Given the description of an element on the screen output the (x, y) to click on. 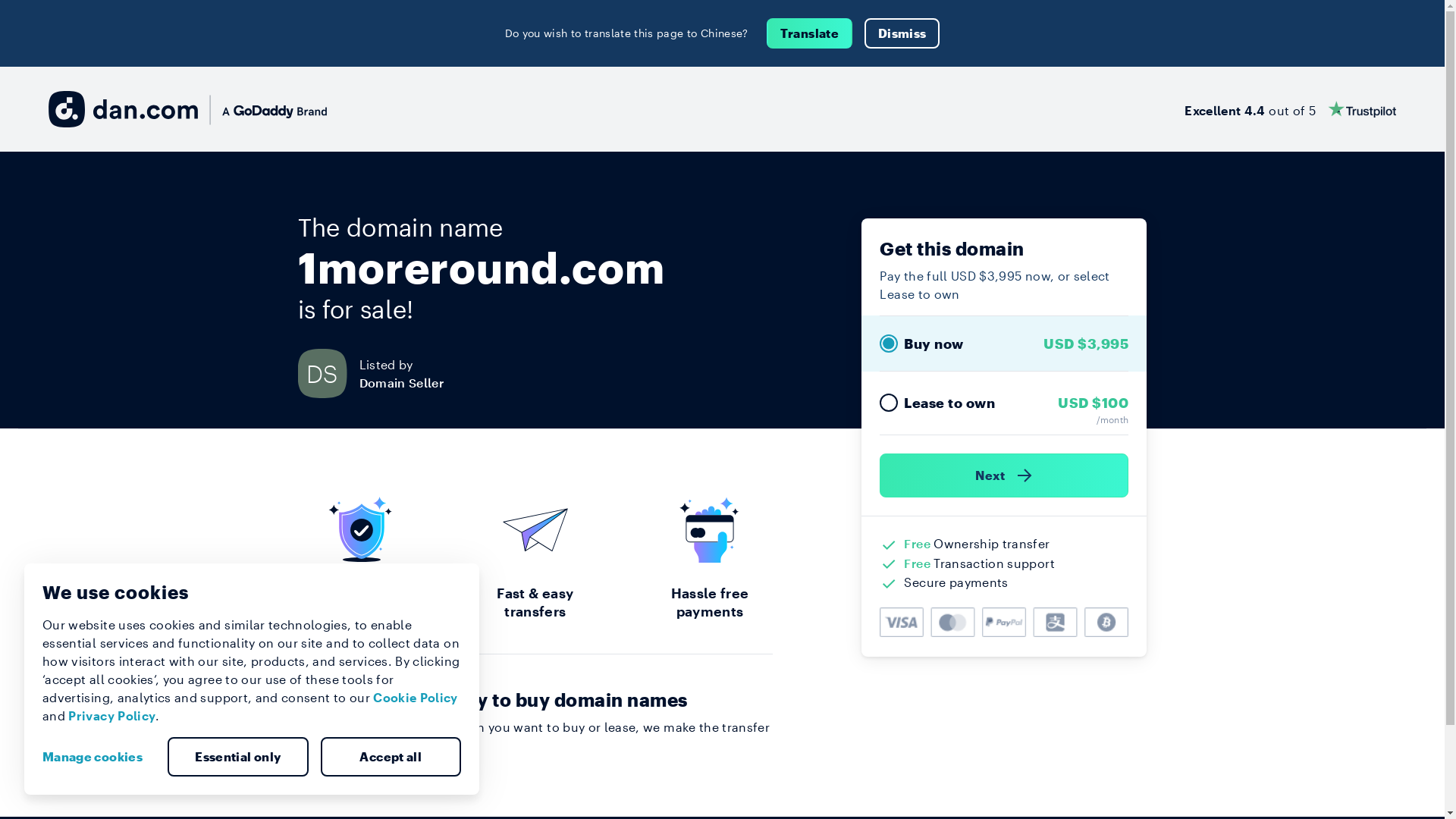
Excellent 4.4 out of 5 Element type: text (1290, 109)
Translate Element type: text (809, 33)
Cookie Policy Element type: text (415, 697)
Essential only Element type: text (237, 756)
Privacy Policy Element type: text (111, 715)
Dismiss Element type: text (901, 33)
Next
) Element type: text (1003, 475)
Accept all Element type: text (390, 756)
Manage cookies Element type: text (98, 756)
